Given the description of an element on the screen output the (x, y) to click on. 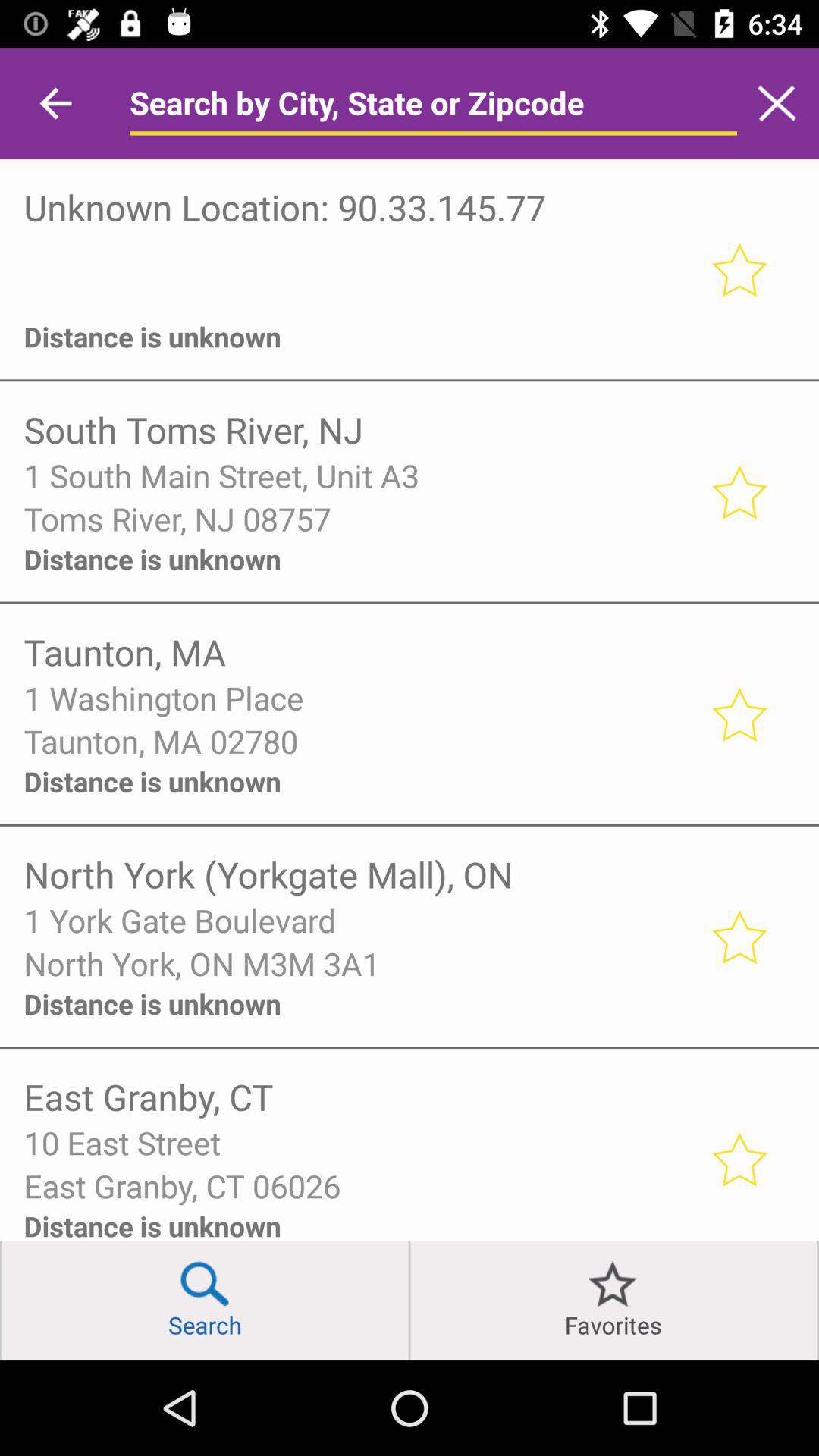
favorite location (738, 936)
